Given the description of an element on the screen output the (x, y) to click on. 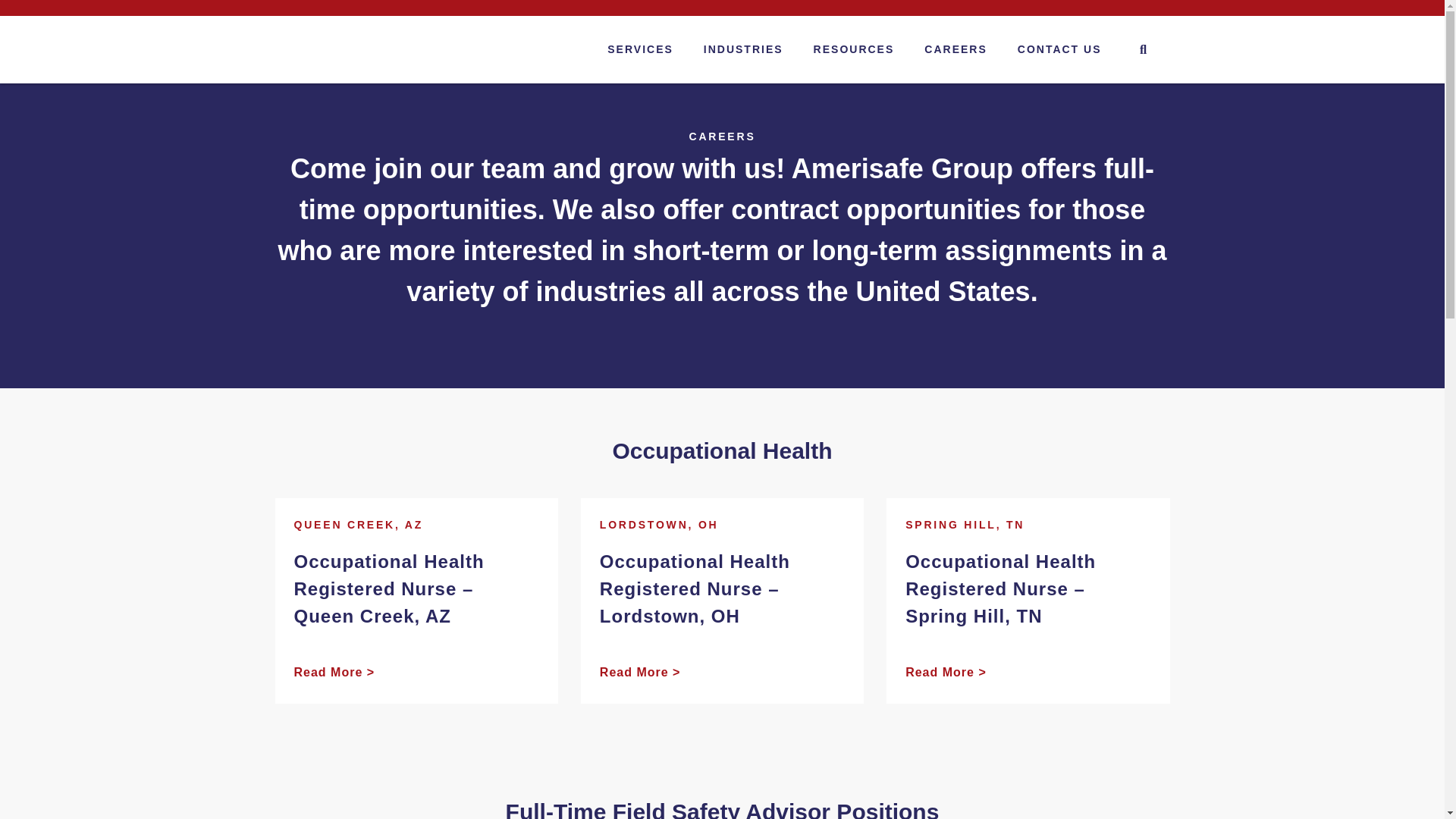
INDUSTRIES (742, 49)
SERVICES (640, 49)
